Given the description of an element on the screen output the (x, y) to click on. 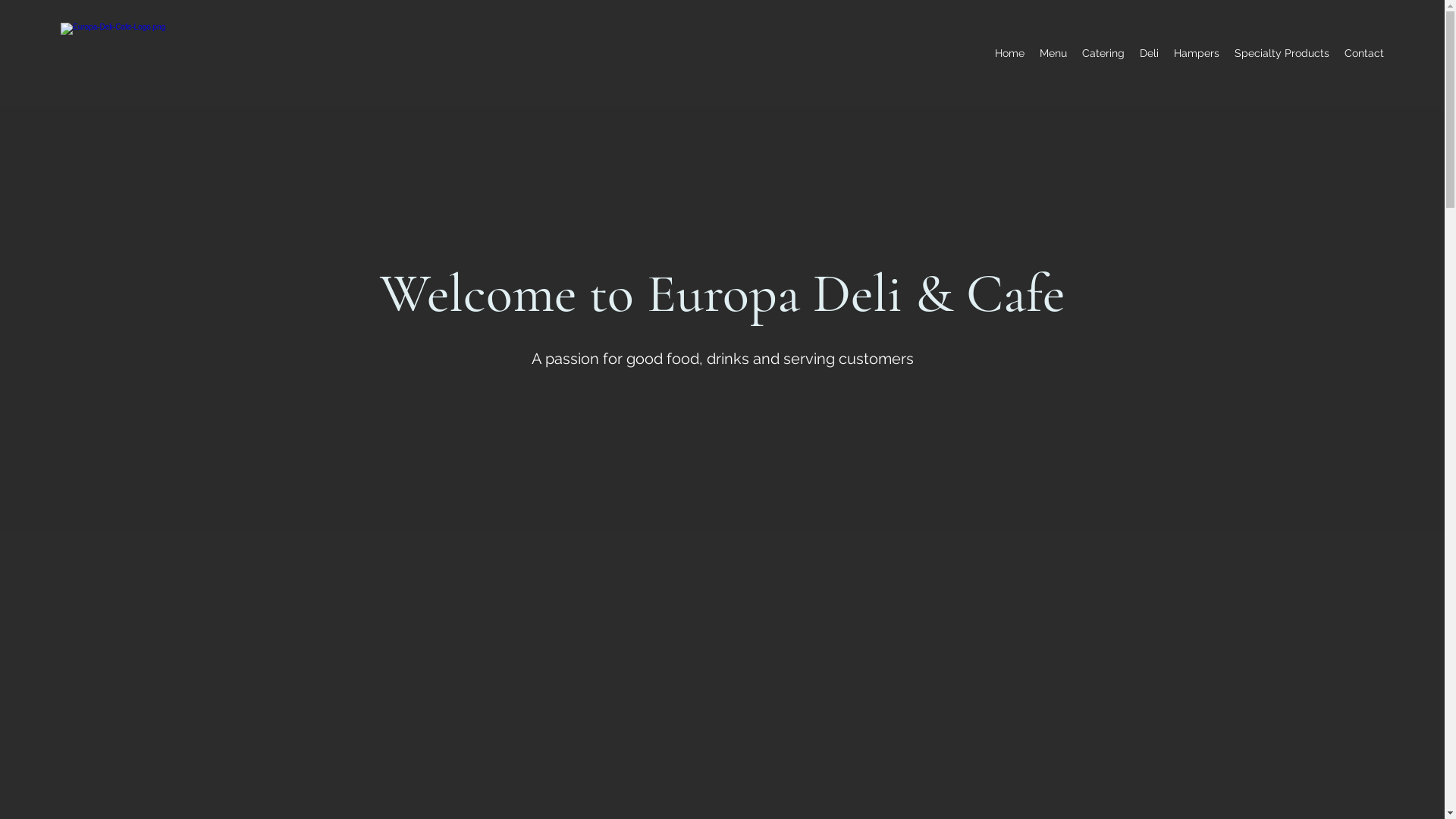
Contact Element type: text (1363, 52)
Menu Element type: text (1053, 52)
Specialty Products Element type: text (1281, 52)
Hampers Element type: text (1196, 52)
Home Element type: text (1009, 52)
Deli Element type: text (1149, 52)
Catering Element type: text (1103, 52)
